Given the description of an element on the screen output the (x, y) to click on. 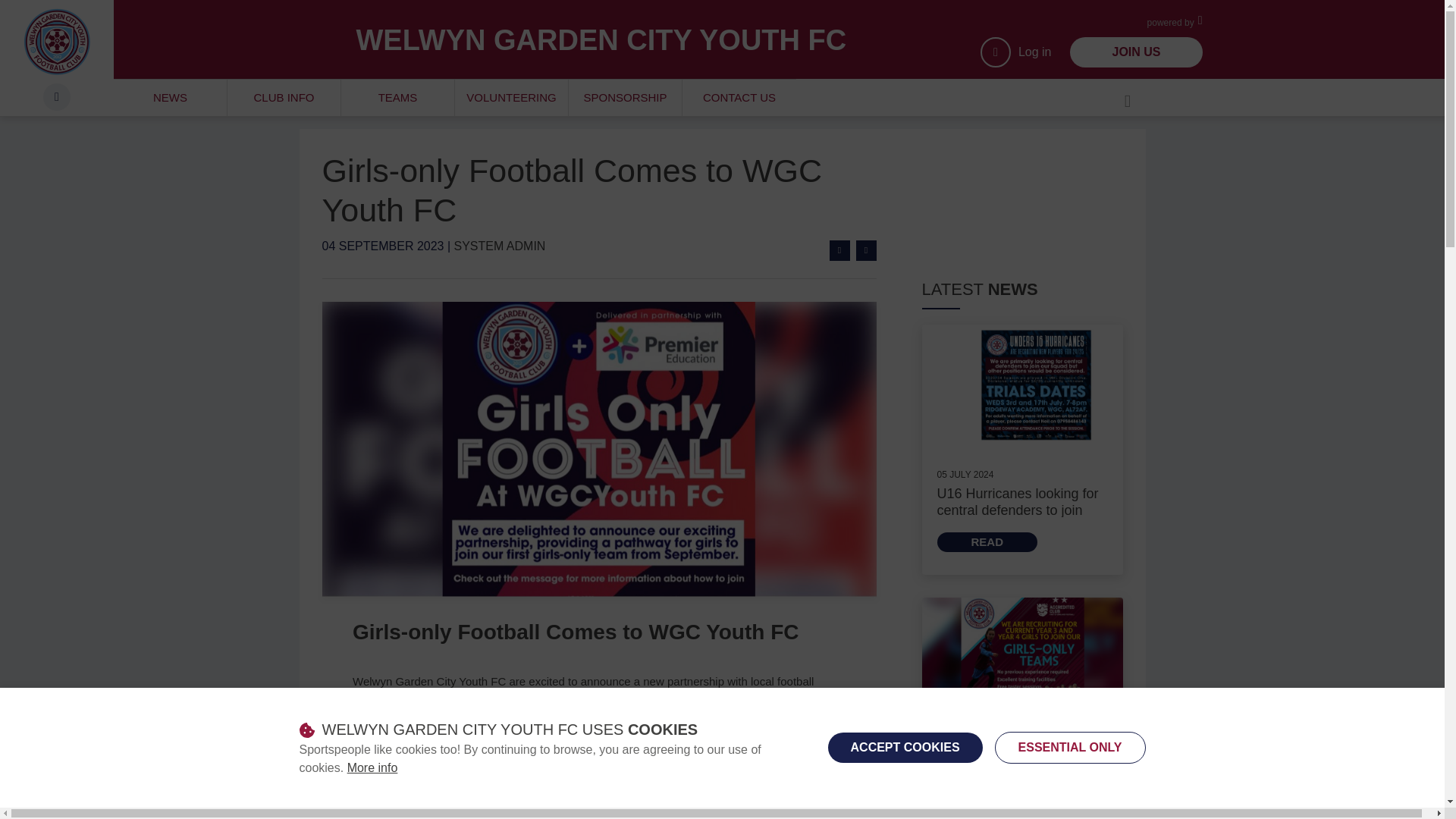
Girls-only Football Comes to WGC Youth FC (839, 250)
